Given the description of an element on the screen output the (x, y) to click on. 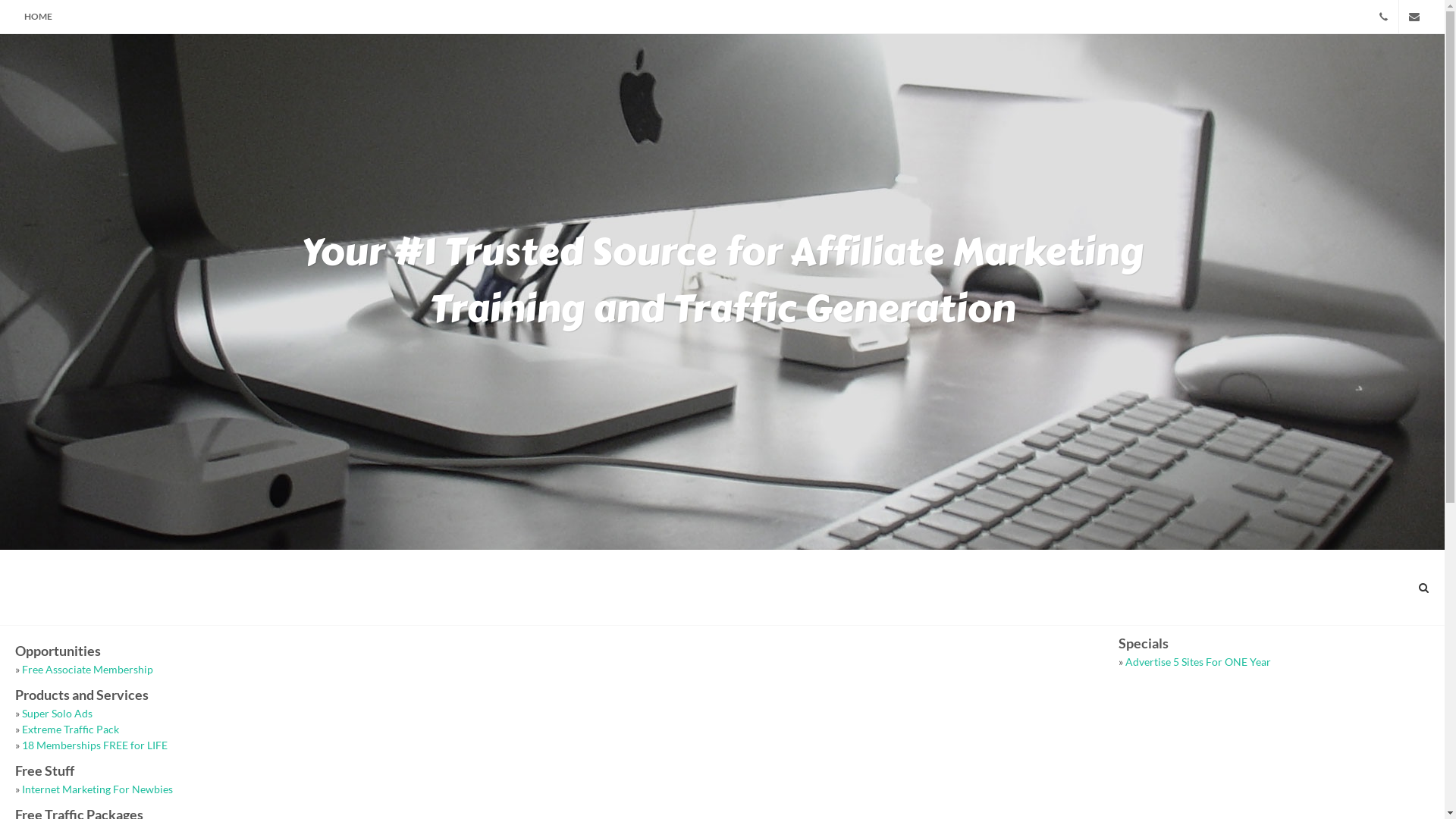
Internet Marketing For Newbies Element type: text (96, 788)
Free Associate Membership Element type: text (87, 668)
Super Solo Ads Element type: text (56, 712)
Advertise 5 Sites For ONE Year Element type: text (1197, 661)
Extreme Traffic Pack Element type: text (70, 728)
18 Memberships FREE for LIFE Element type: text (94, 744)
HOME Element type: text (38, 16)
